Given the description of an element on the screen output the (x, y) to click on. 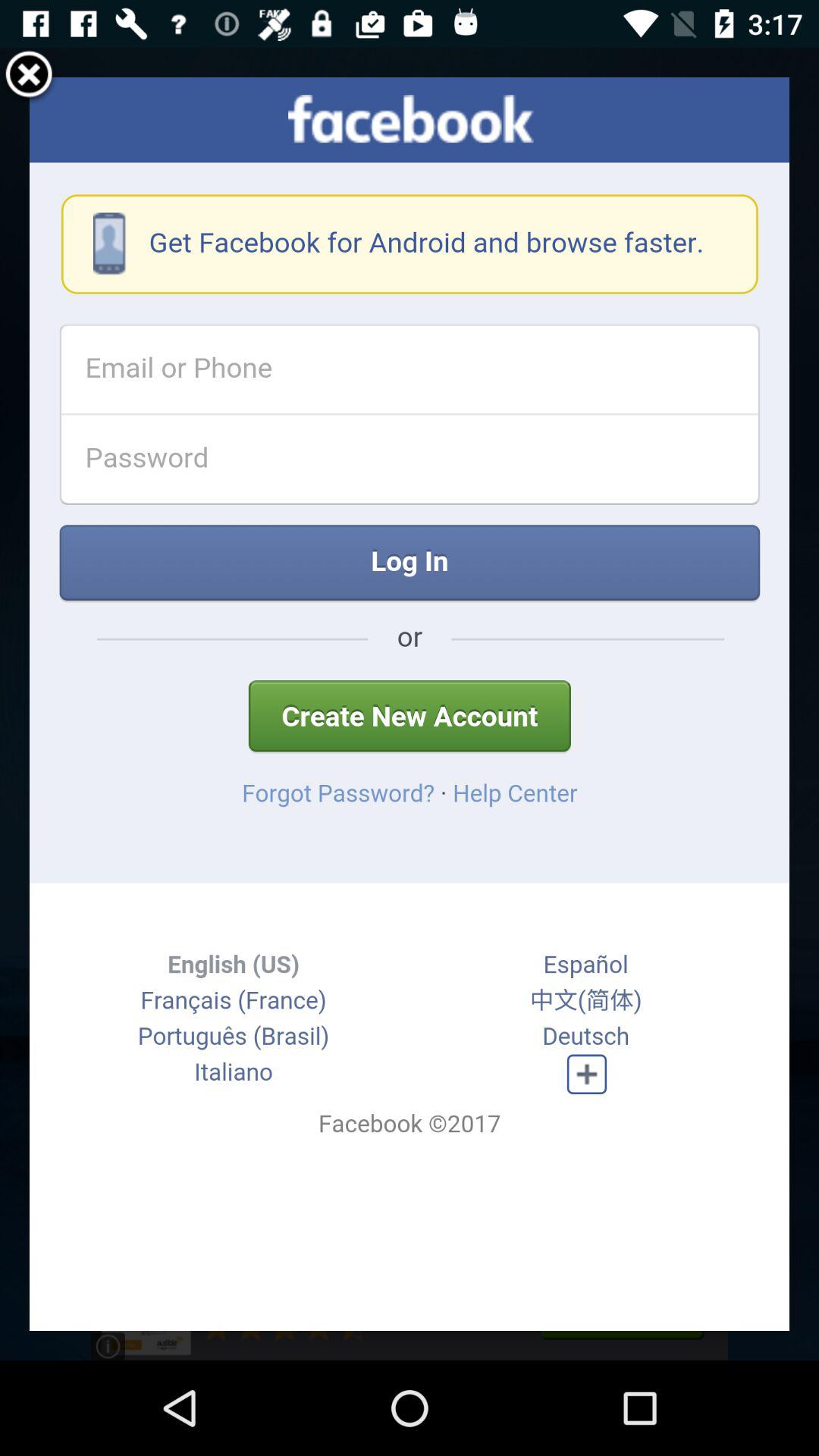
close this (29, 76)
